Given the description of an element on the screen output the (x, y) to click on. 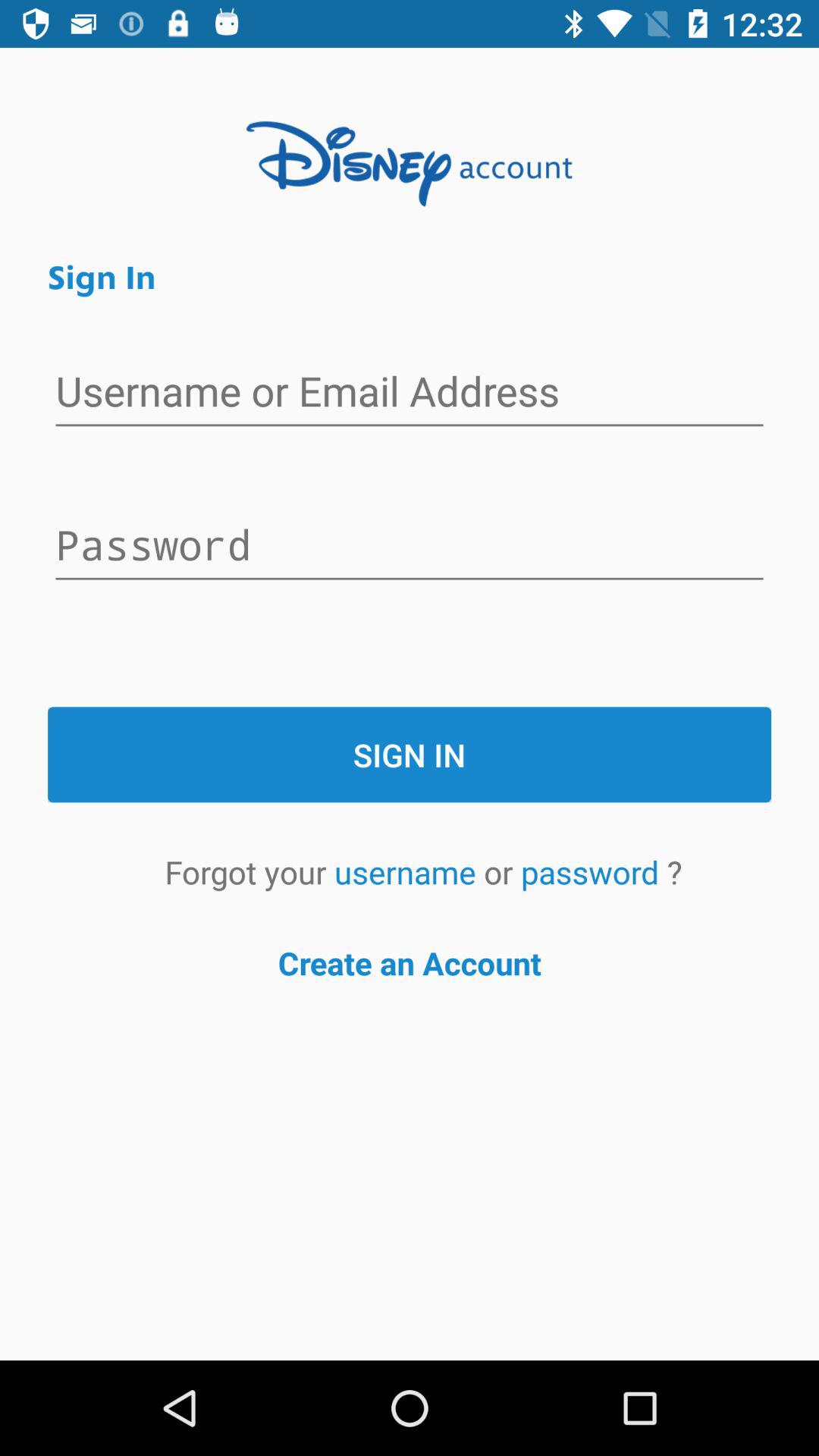
tap the icon below the sign in icon (409, 871)
